Given the description of an element on the screen output the (x, y) to click on. 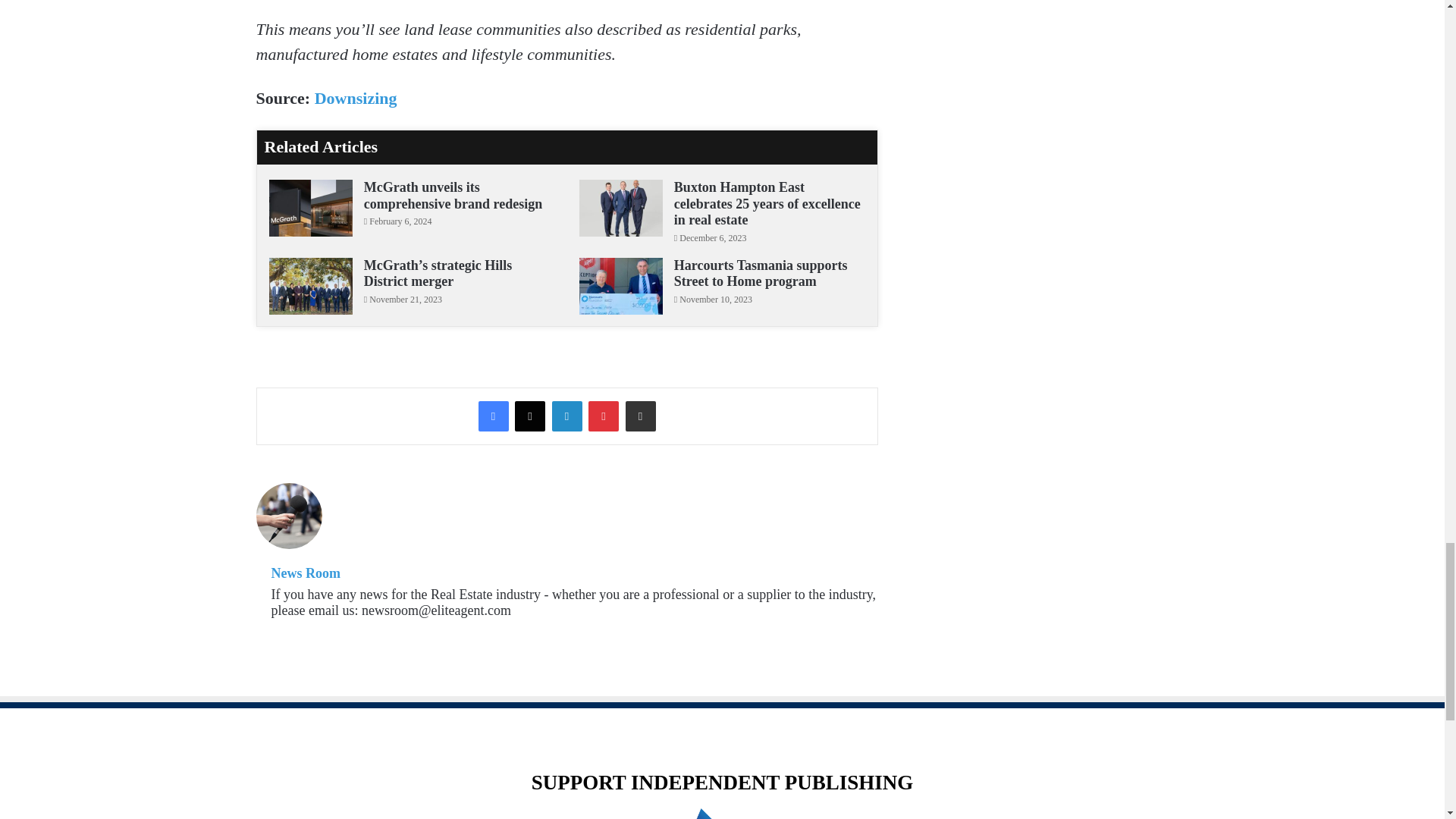
Facebook (492, 415)
